Given the description of an element on the screen output the (x, y) to click on. 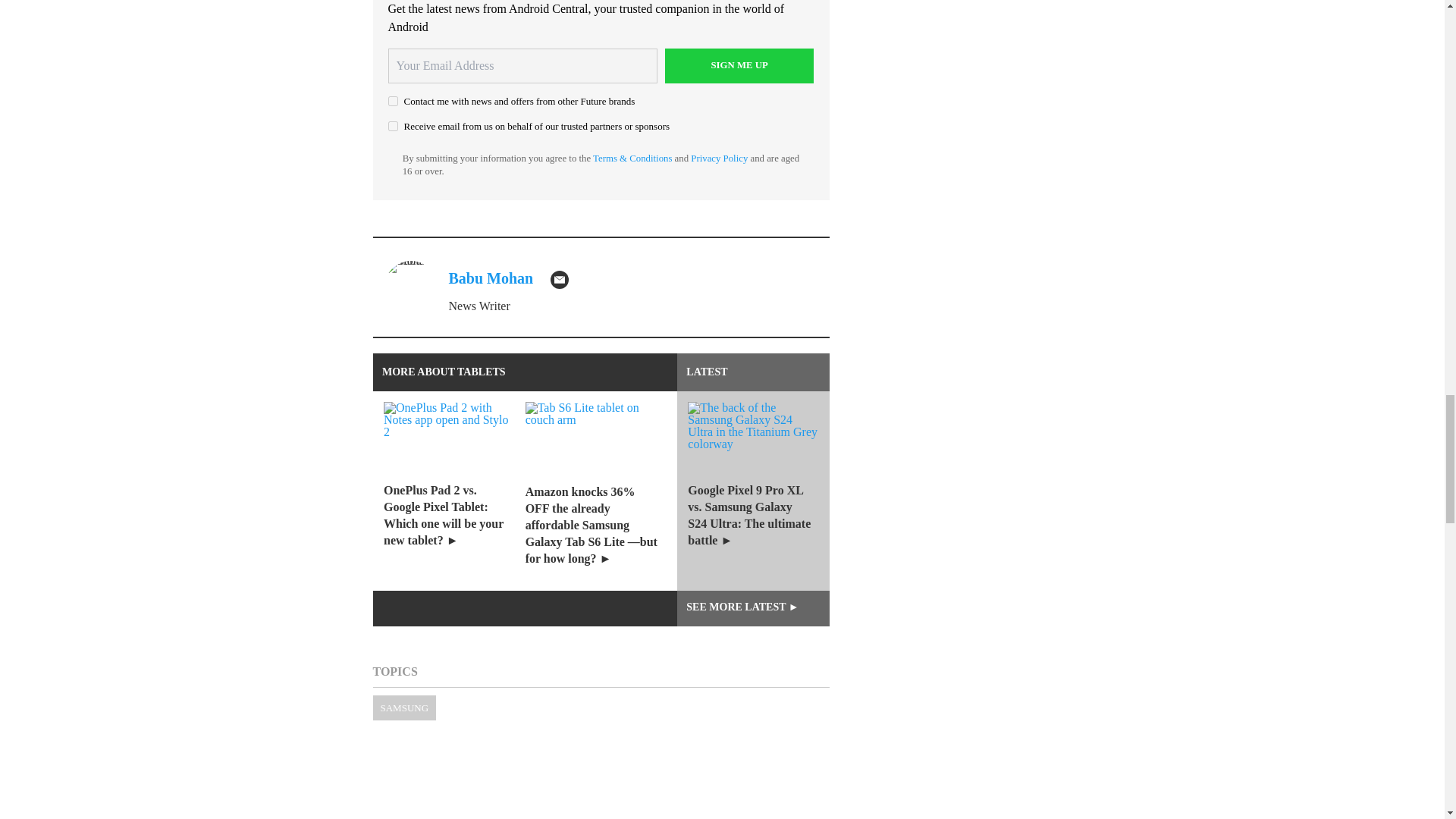
on (392, 126)
on (392, 101)
Sign me up (739, 65)
